Given the description of an element on the screen output the (x, y) to click on. 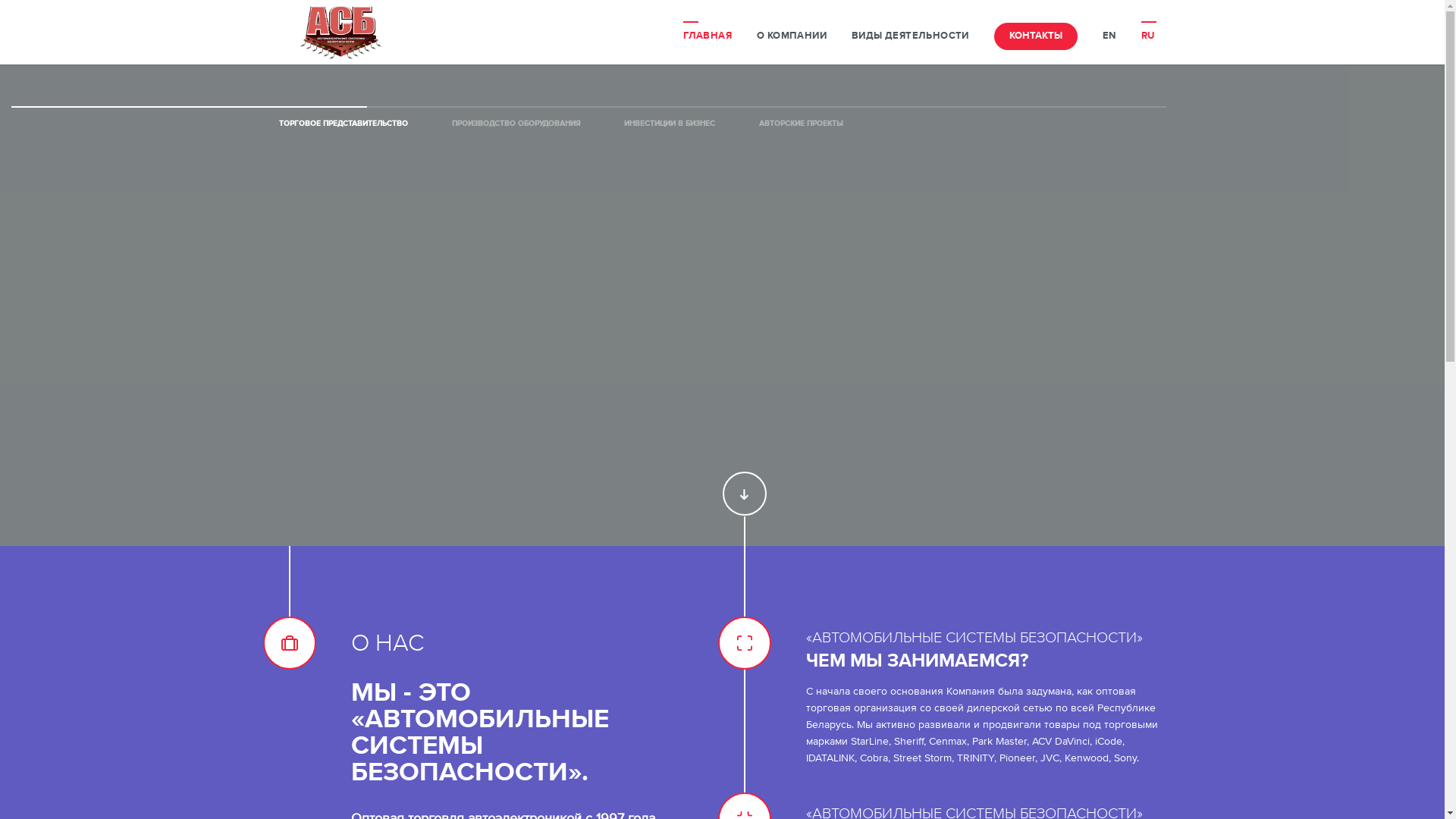
ASB group Element type: text (340, 32)
EN Element type: text (1109, 36)
RU Element type: text (1147, 36)
